Given the description of an element on the screen output the (x, y) to click on. 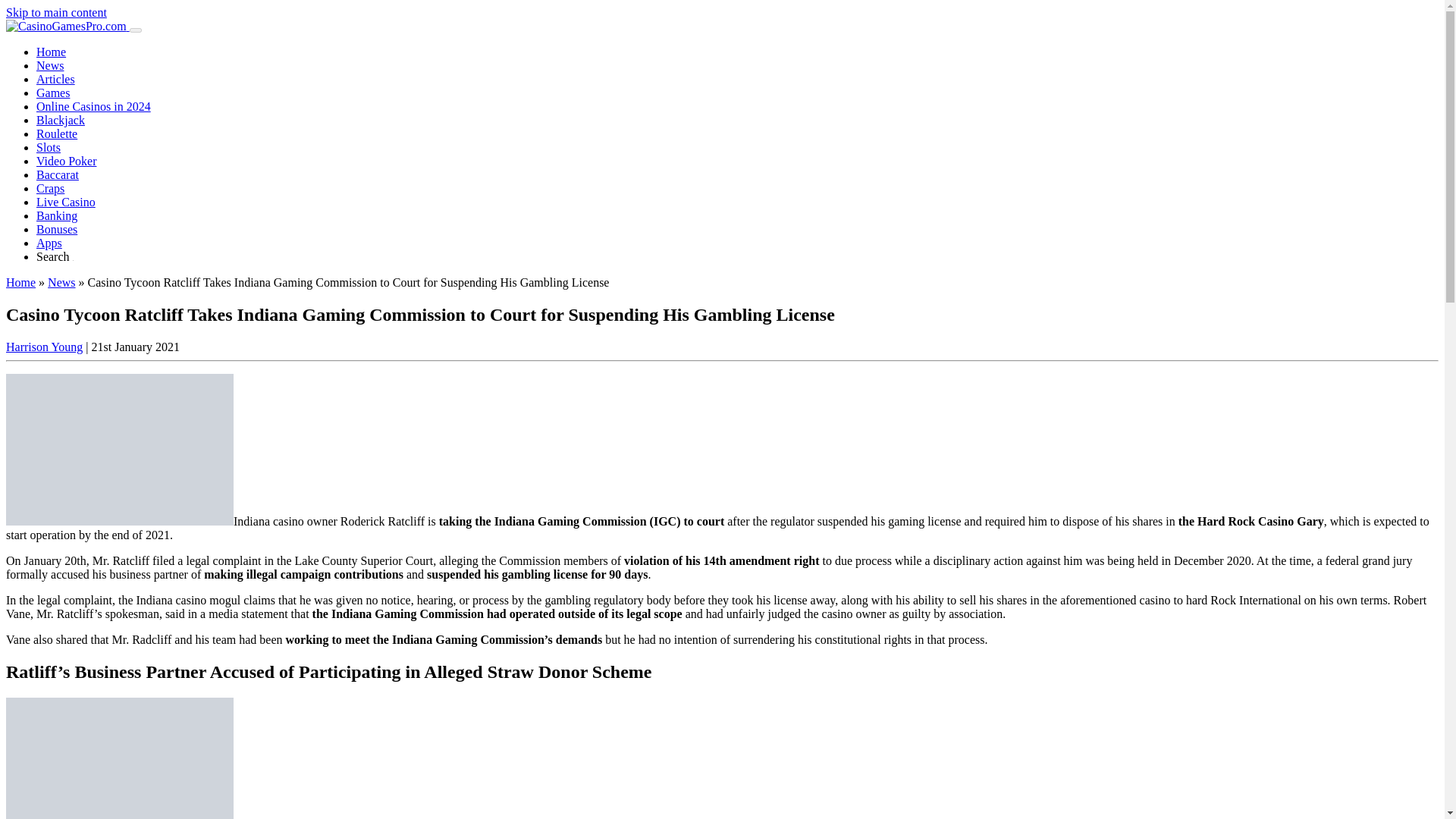
Roulette (56, 133)
Online Casinos in 2024 (93, 106)
Online Casinos in 2024 (93, 106)
Games (52, 92)
Video Poker (66, 160)
CasinoGamesPro.com (67, 25)
Blackjack (60, 119)
News (50, 65)
Home (50, 51)
Video Poker (66, 160)
Live Casino (66, 201)
Craps (50, 187)
Apps (49, 242)
Live Casino (66, 201)
Search (55, 256)
